Given the description of an element on the screen output the (x, y) to click on. 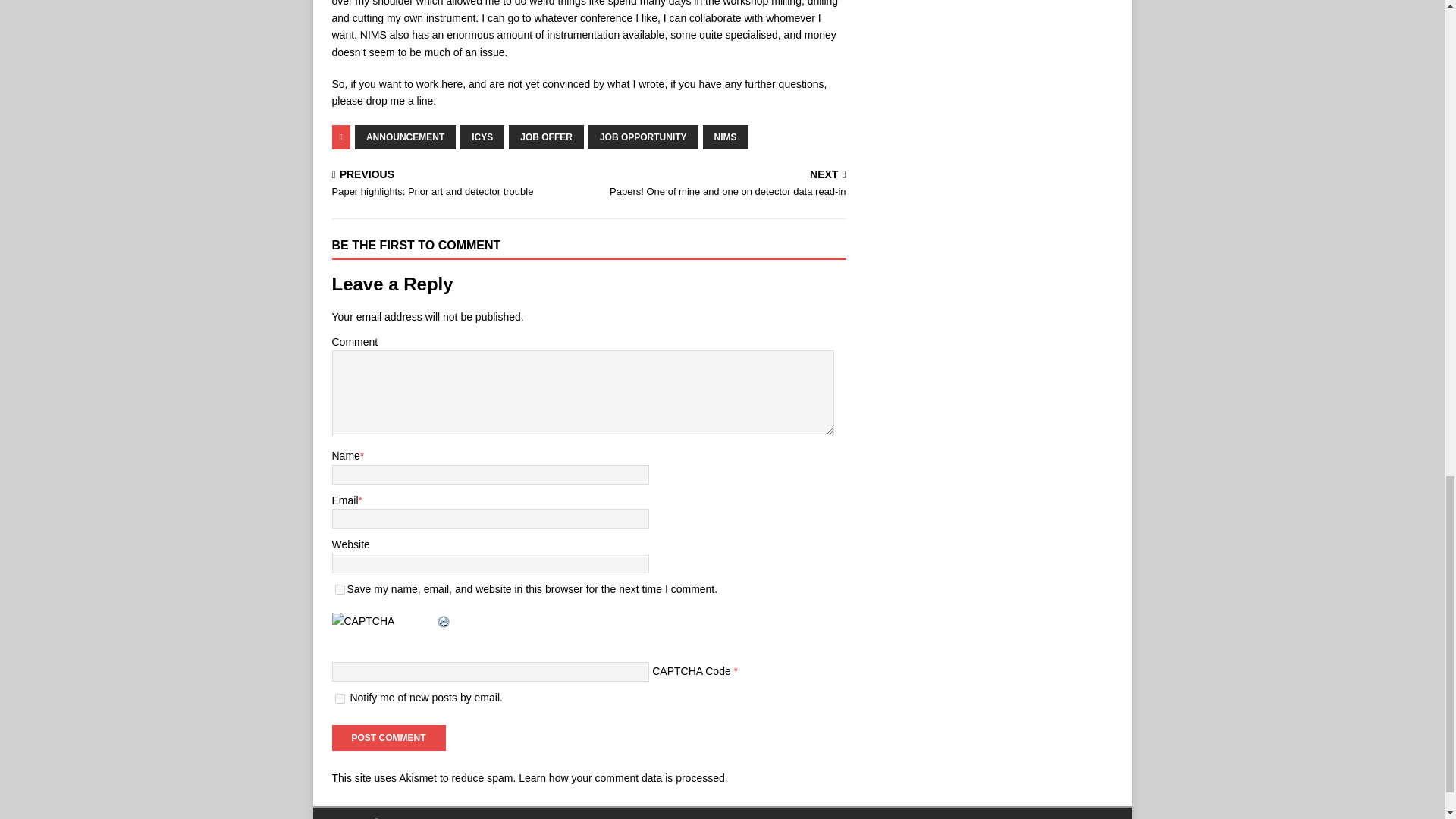
Post Comment (388, 737)
yes (339, 589)
Refresh (443, 621)
JOB OFFER (545, 137)
Learn how your comment data is processed (621, 777)
Post Comment (388, 737)
ICYS (720, 183)
NIMS (481, 137)
subscribe (725, 137)
ANNOUNCEMENT (339, 698)
JOB OPPORTUNITY (405, 137)
CAPTCHA (643, 137)
